Given the description of an element on the screen output the (x, y) to click on. 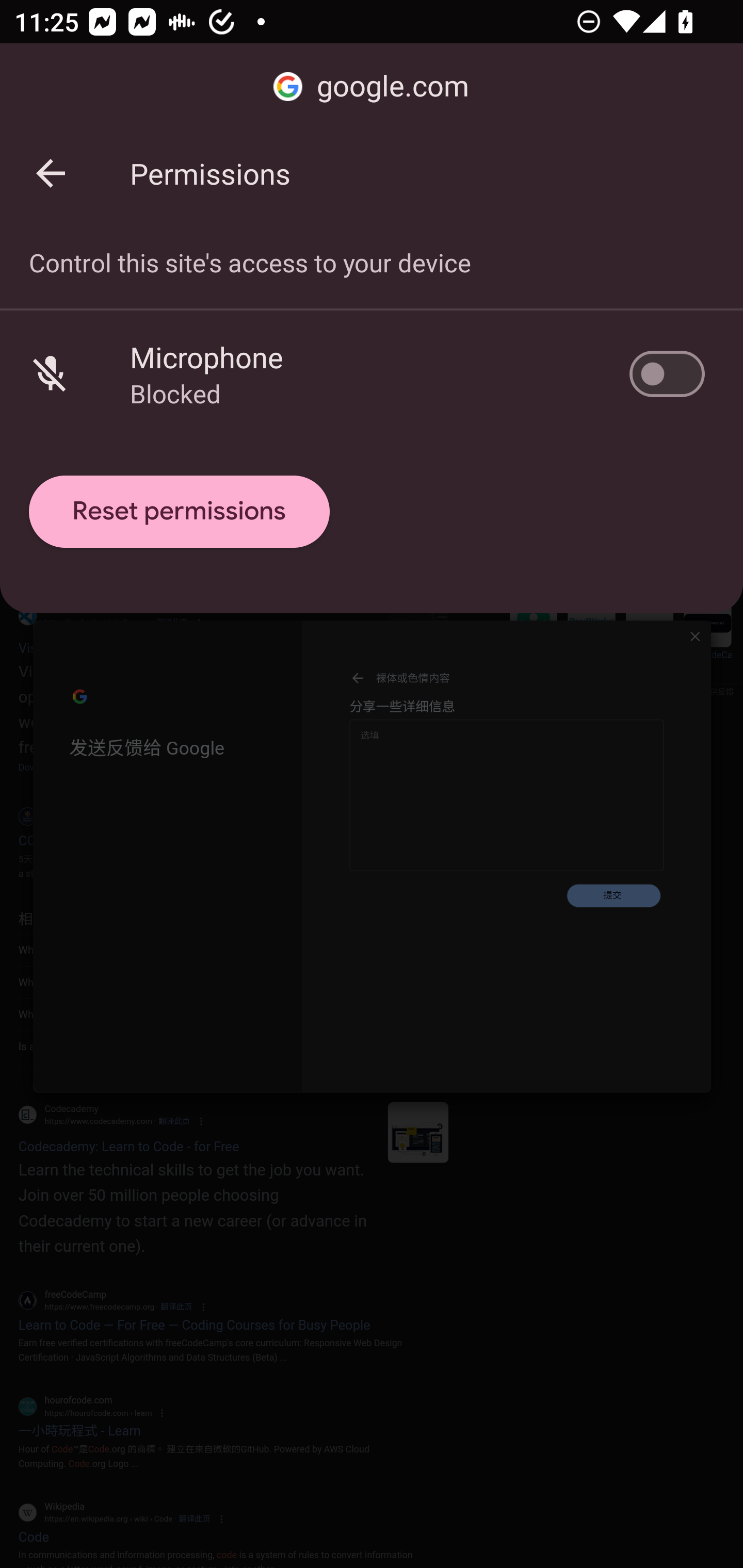
google.com (371, 86)
Back (50, 173)
Microphone Blocked (371, 373)
Reset permissions (178, 511)
